Given the description of an element on the screen output the (x, y) to click on. 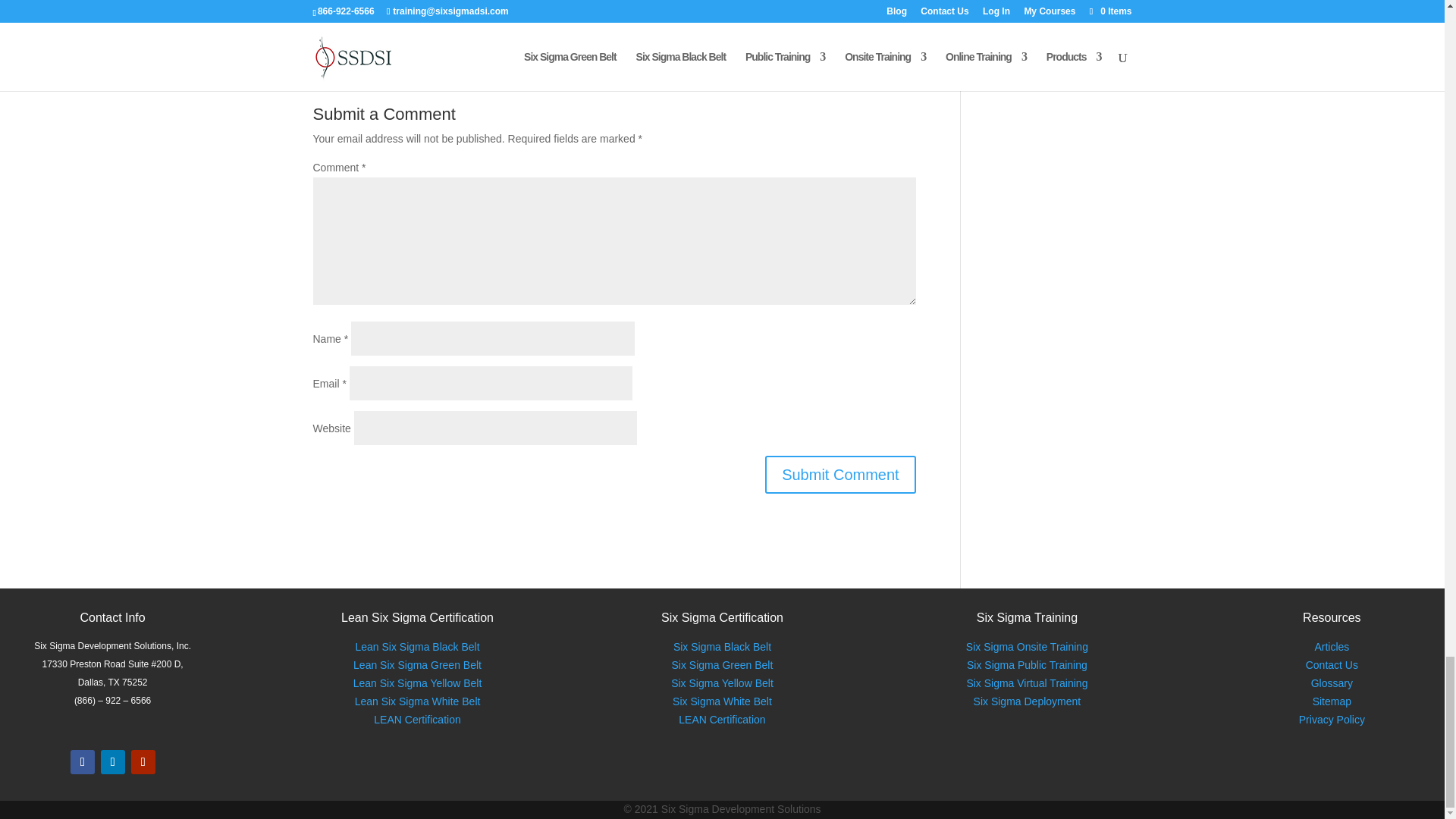
Follow on Youtube (143, 761)
Submit Comment (840, 474)
Follow on LinkedIn (112, 761)
Follow on Facebook (81, 761)
